Given the description of an element on the screen output the (x, y) to click on. 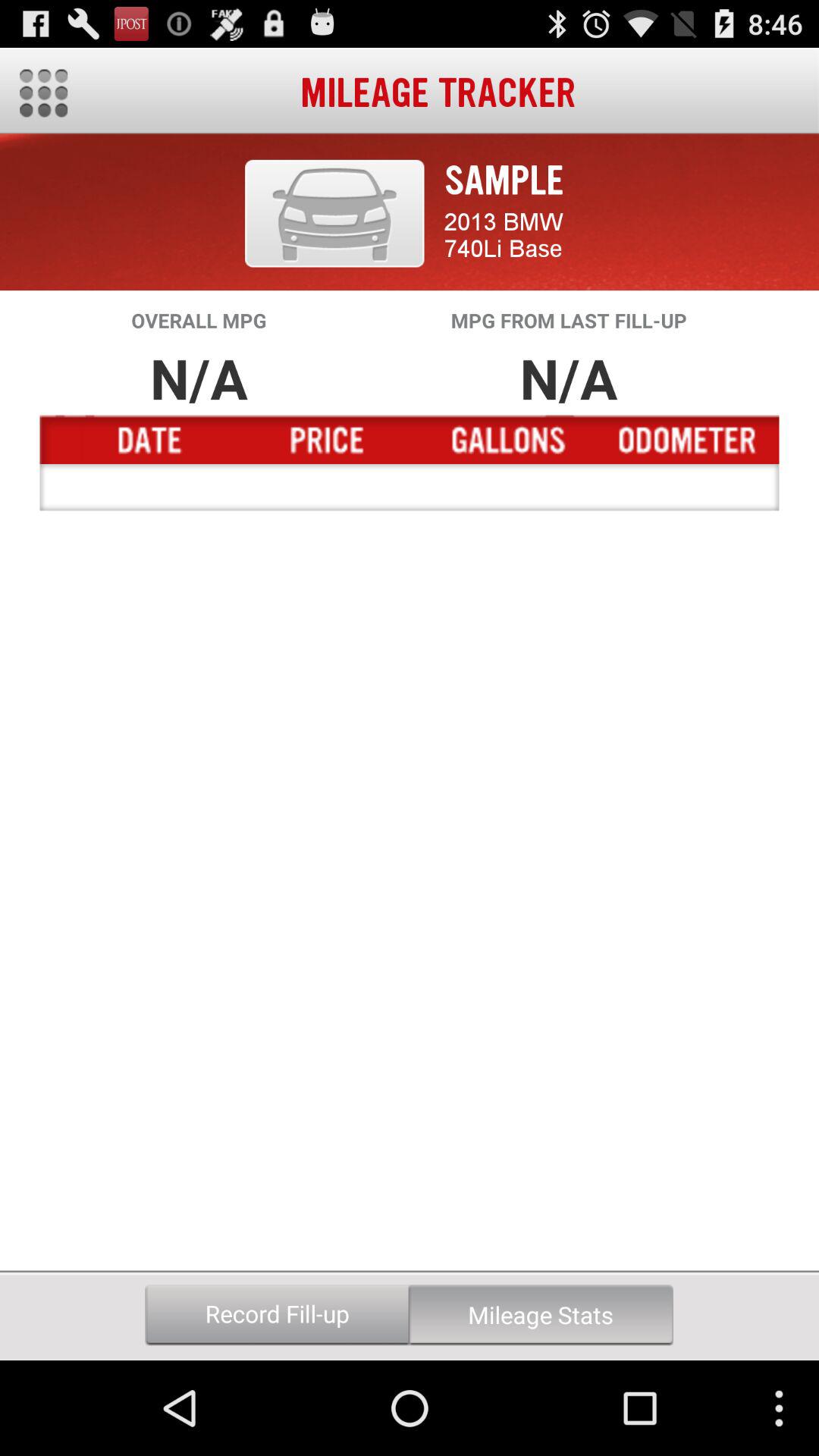
launch button next to record fill-up (540, 1314)
